Given the description of an element on the screen output the (x, y) to click on. 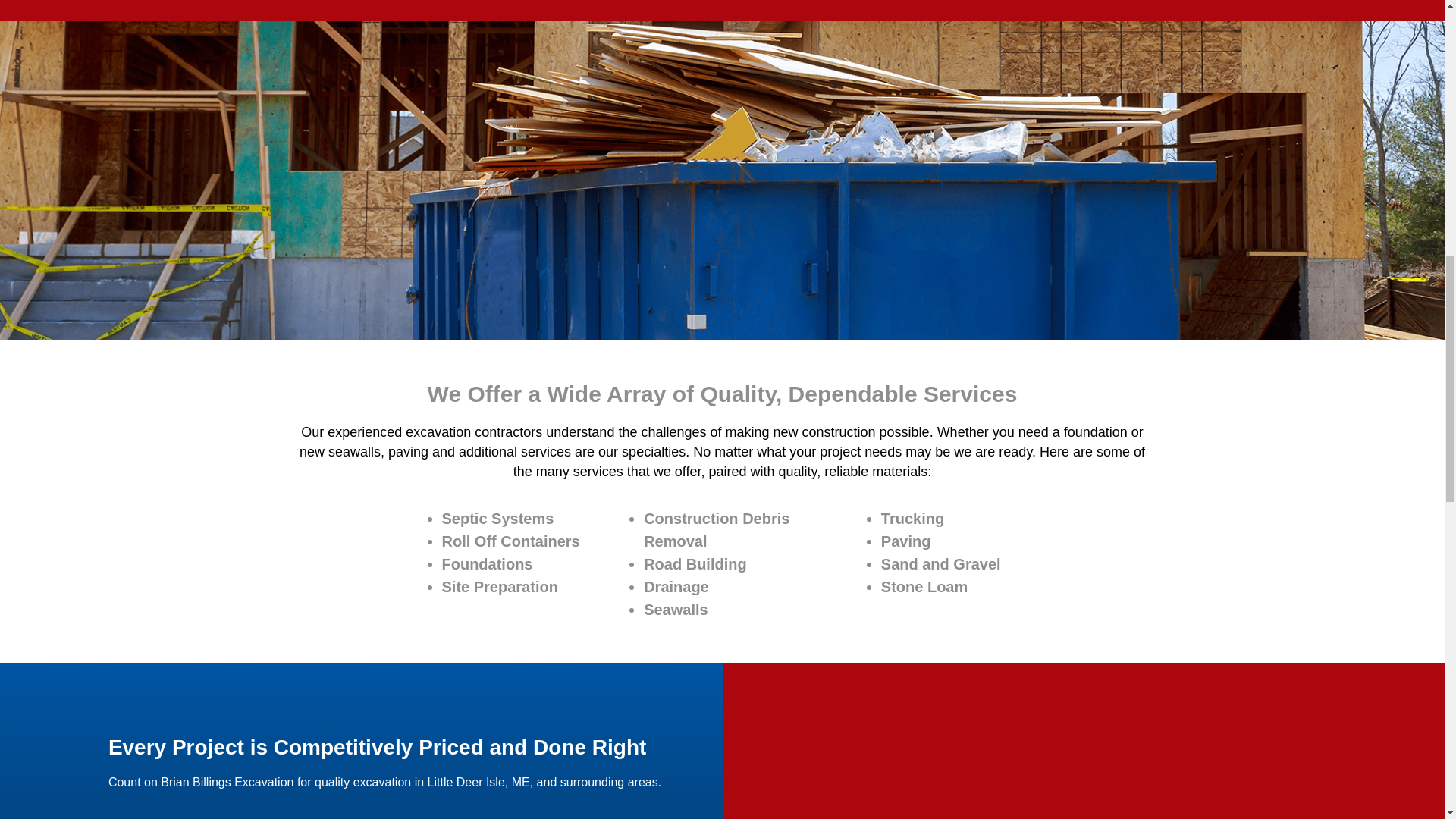
Seawalls (675, 609)
Roll Off Containers (510, 541)
Paving (905, 541)
Stone Loam (924, 586)
Road Building (694, 564)
Septic Systems (497, 518)
Sand and Gravel (940, 564)
Trucking (911, 518)
Drainage (676, 586)
